Given the description of an element on the screen output the (x, y) to click on. 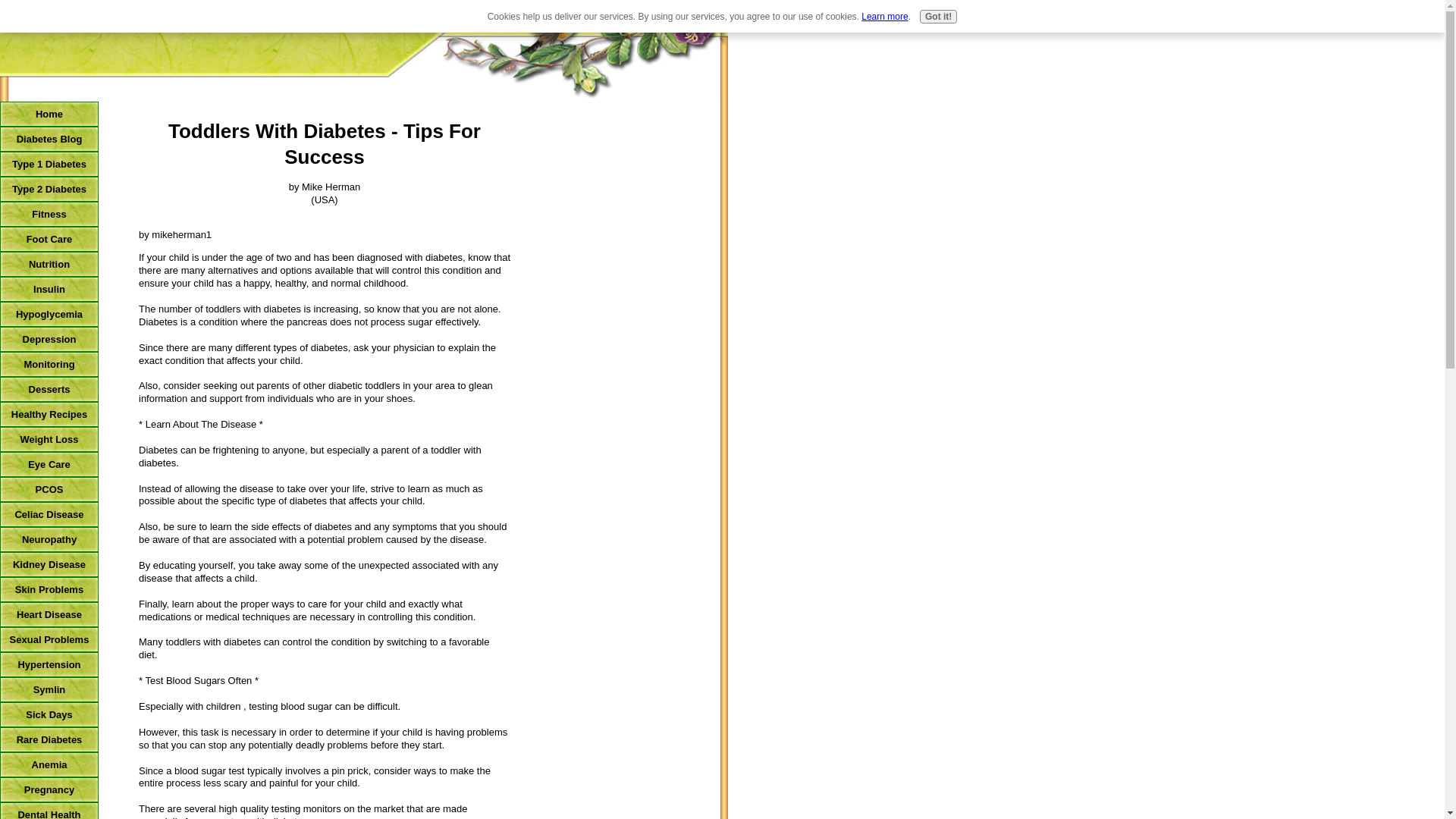
PCOS (49, 489)
Skin Problems (49, 589)
Pregnancy (49, 789)
Type 1 Diabetes (49, 163)
Sexual Problems (49, 639)
Hypertension (49, 664)
Healthy Recipes (49, 414)
Home (49, 113)
Monitoring (49, 364)
Diabetes Blog (49, 138)
Weight Loss (49, 439)
Nutrition (49, 263)
Dental Health (49, 810)
Kidney Disease (49, 564)
Desserts (49, 389)
